Given the description of an element on the screen output the (x, y) to click on. 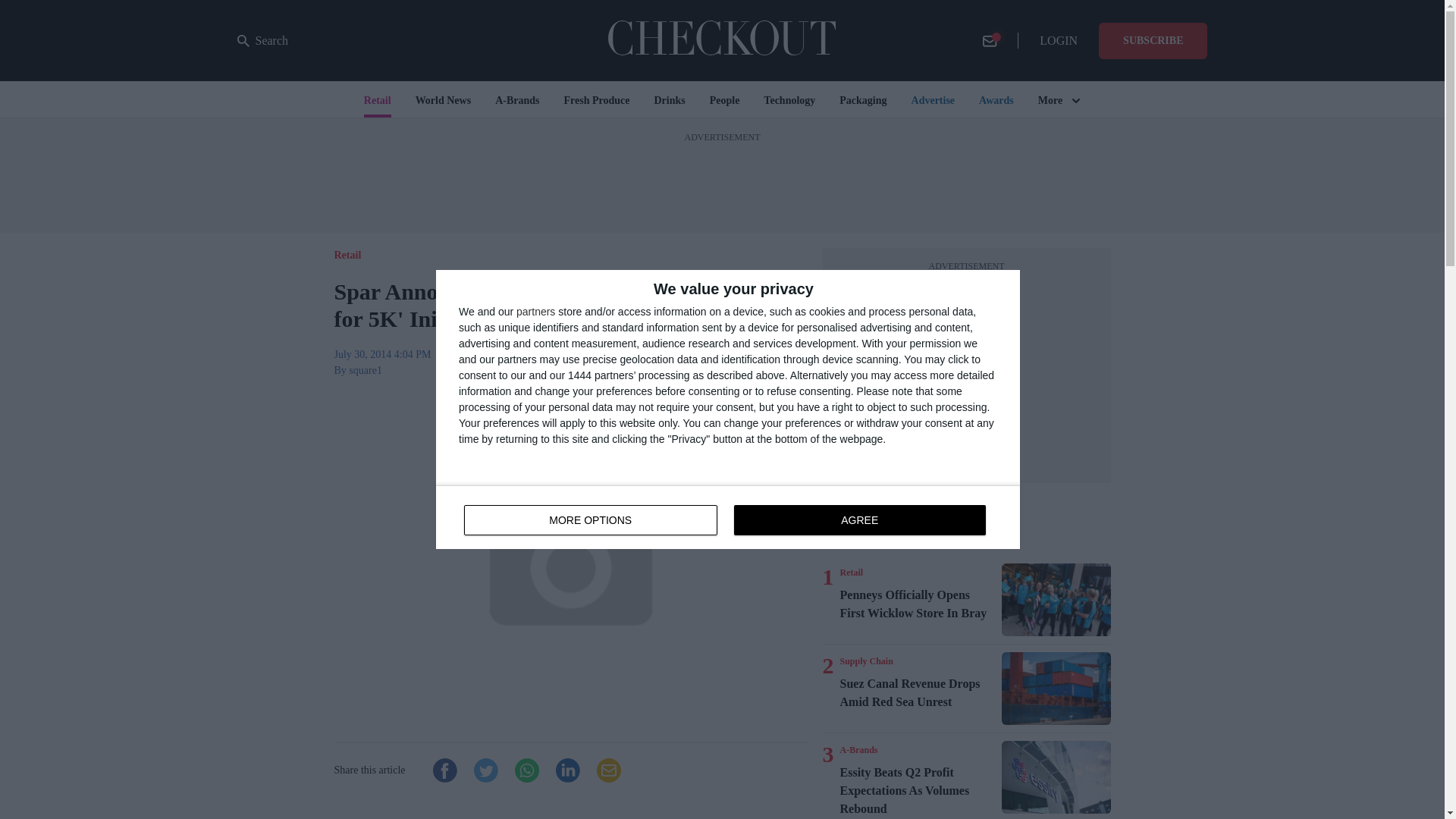
Suez Canal Revenue Drops Amid Red Sea Unrest (917, 692)
Penneys Officially Opens First Wicklow Store In Bray (917, 604)
Penneys Officially Opens First Wicklow Store In Bray (1055, 599)
Search (261, 40)
Suez Canal Revenue Drops Amid Red Sea Unrest (727, 516)
Retail (1055, 687)
A-Brands (851, 572)
Supply Chain (858, 749)
